Given the description of an element on the screen output the (x, y) to click on. 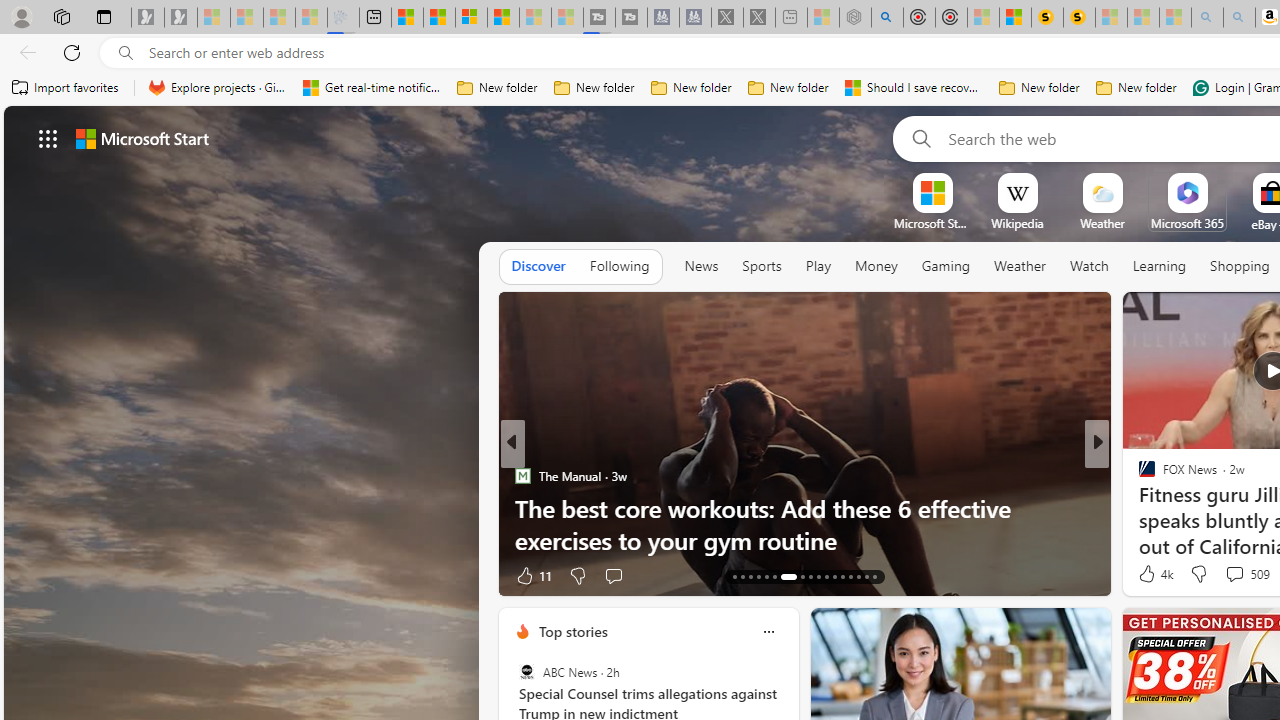
4k Like (1154, 574)
View comments 9 Comment (1241, 574)
4 Like (1145, 574)
AutomationID: tab-20 (795, 576)
Michelle Starr, Senior Journalist at ScienceAlert (1078, 17)
292 Like (1151, 574)
Overview (471, 17)
Class: icon-img (768, 632)
More Options (1219, 179)
The Week US (1138, 507)
149 Like (1151, 574)
